Given the description of an element on the screen output the (x, y) to click on. 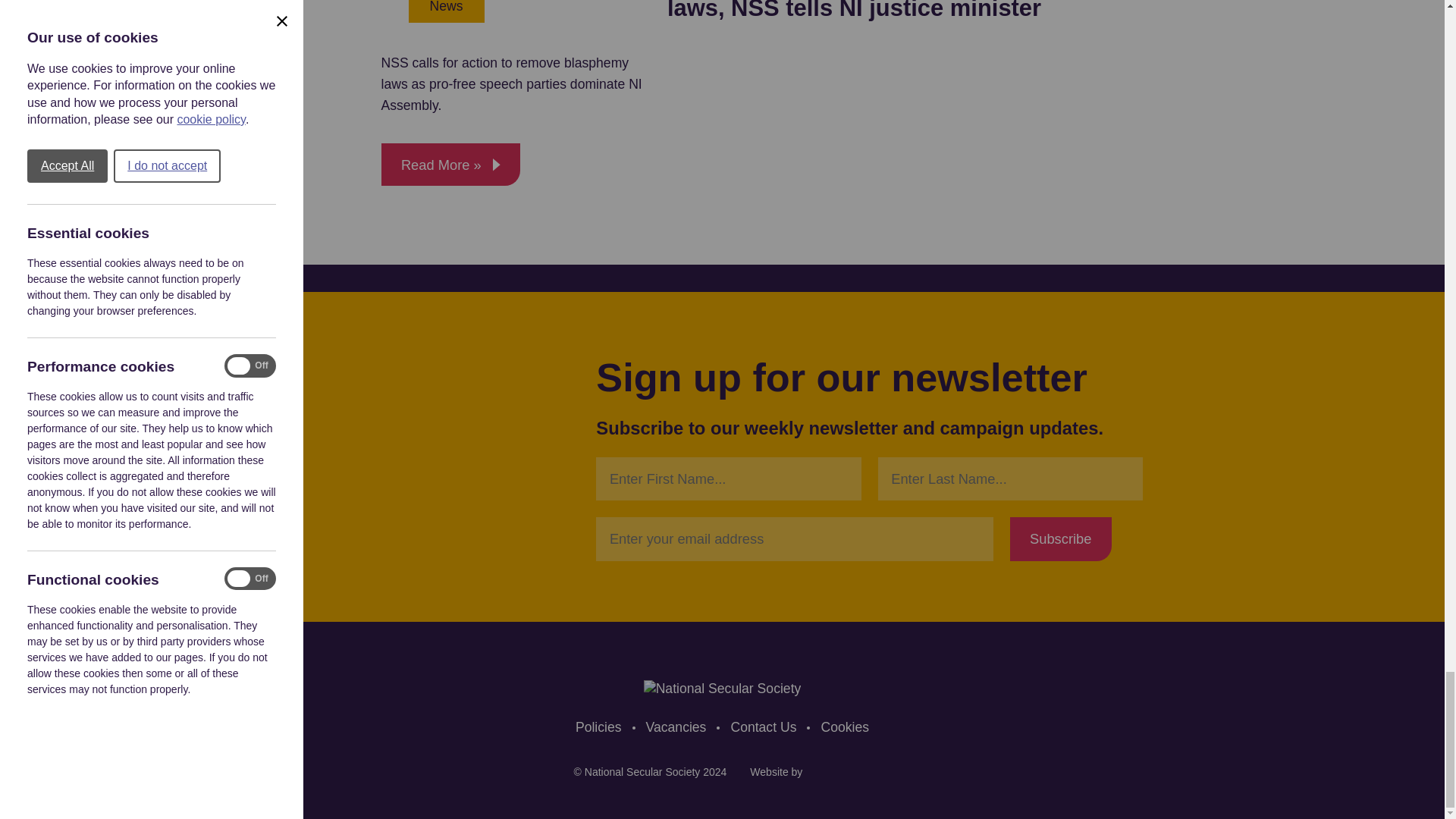
Logo (722, 688)
Subscribe (1061, 538)
